Given the description of an element on the screen output the (x, y) to click on. 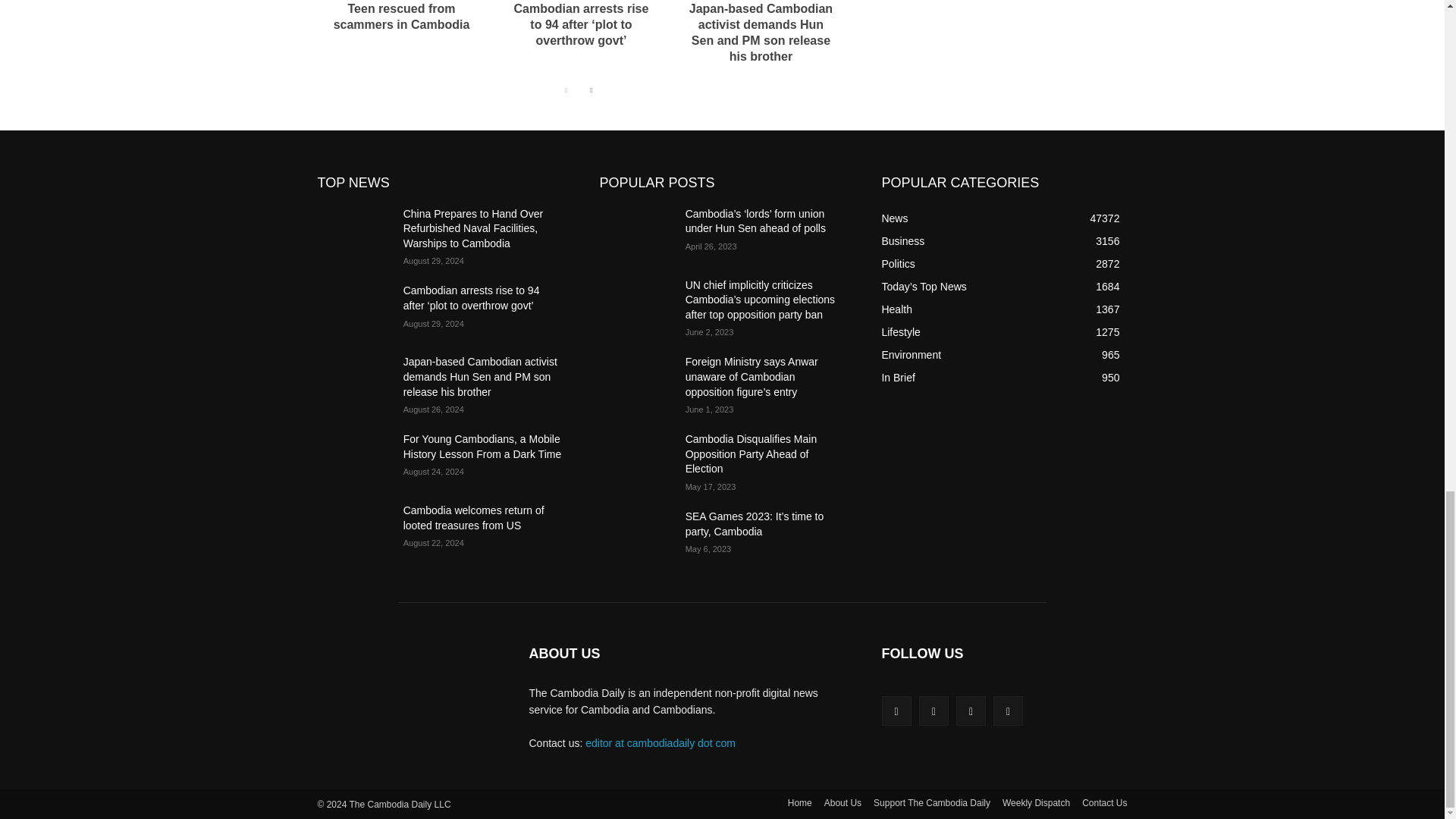
Teen rescued from scammers in Cambodia (401, 16)
Teen rescued from scammers in Cambodia (401, 16)
